Given the description of an element on the screen output the (x, y) to click on. 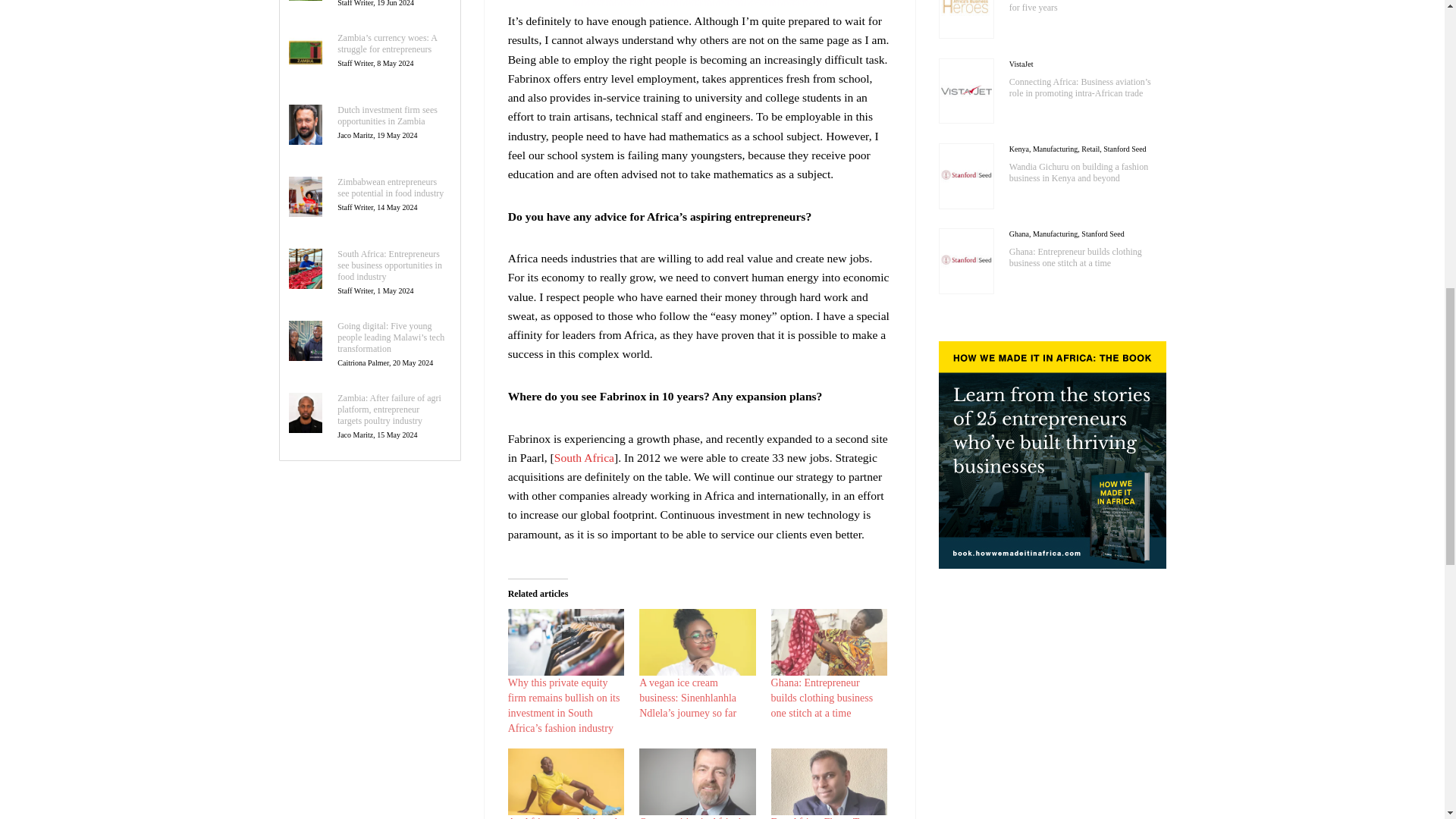
3rd party ad content (699, 2)
South Africa (584, 457)
